Given the description of an element on the screen output the (x, y) to click on. 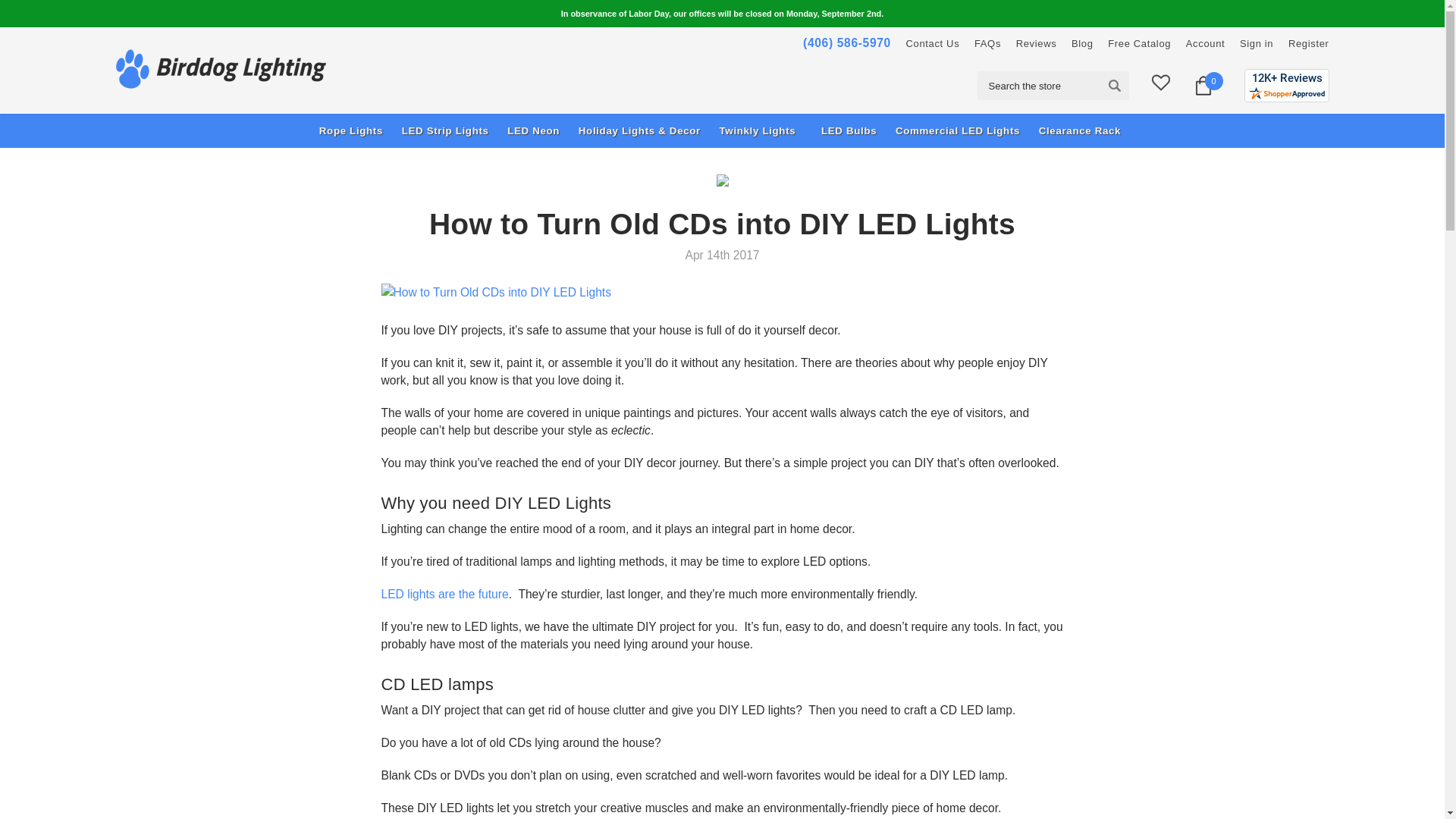
Blog (1082, 43)
Sign in (1256, 43)
Register (1308, 43)
Free Catalog (1139, 43)
How to Turn Old CDs into DIY LED Lights (721, 292)
Contact Us (932, 43)
Rope Lights (352, 130)
FAQs (987, 43)
0 (1202, 85)
Birddog Lighting (221, 68)
